Given the description of an element on the screen output the (x, y) to click on. 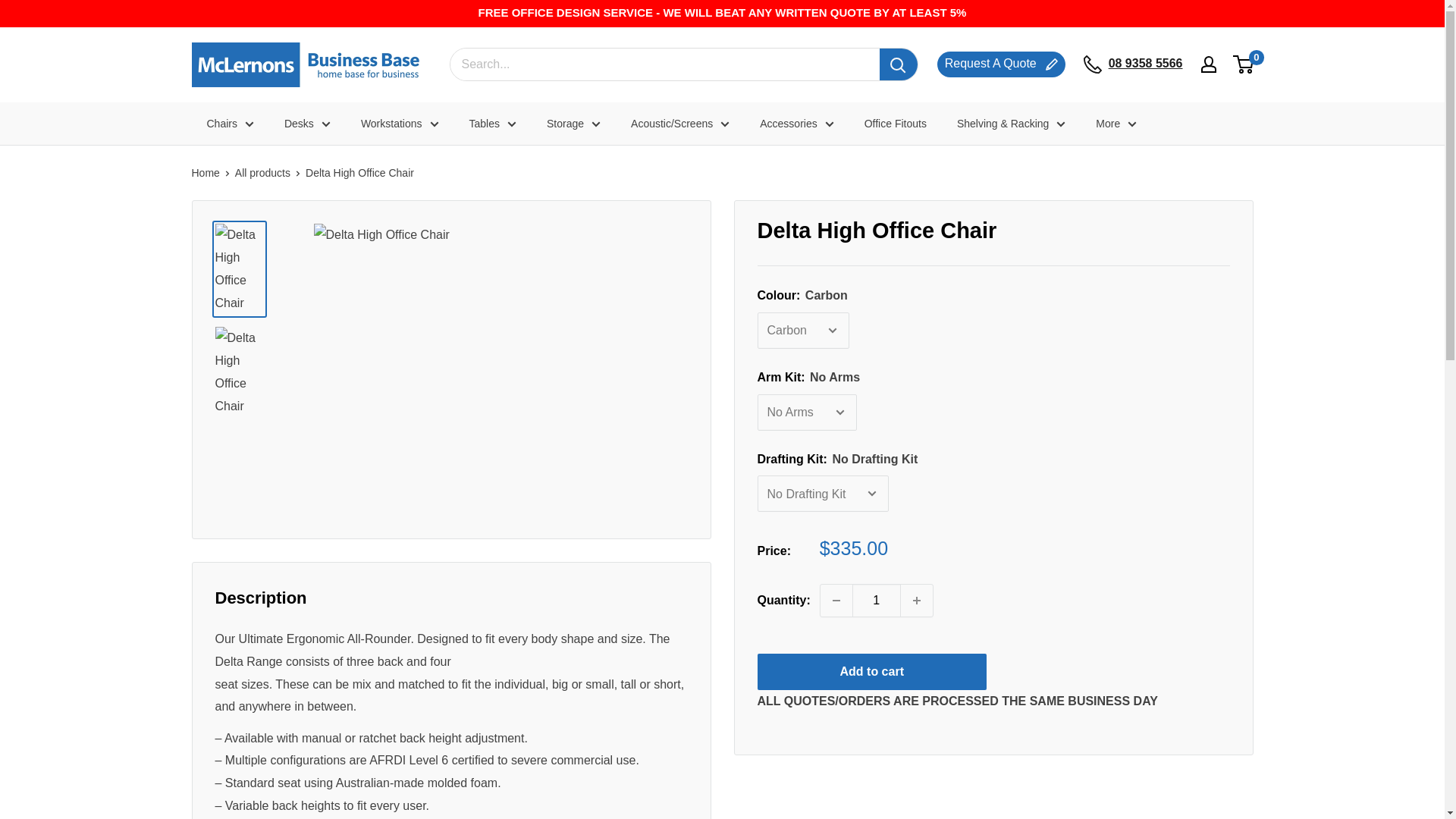
Decrease quantity by 1 (836, 600)
1 (876, 600)
Increase quantity by 1 (917, 600)
